Given the description of an element on the screen output the (x, y) to click on. 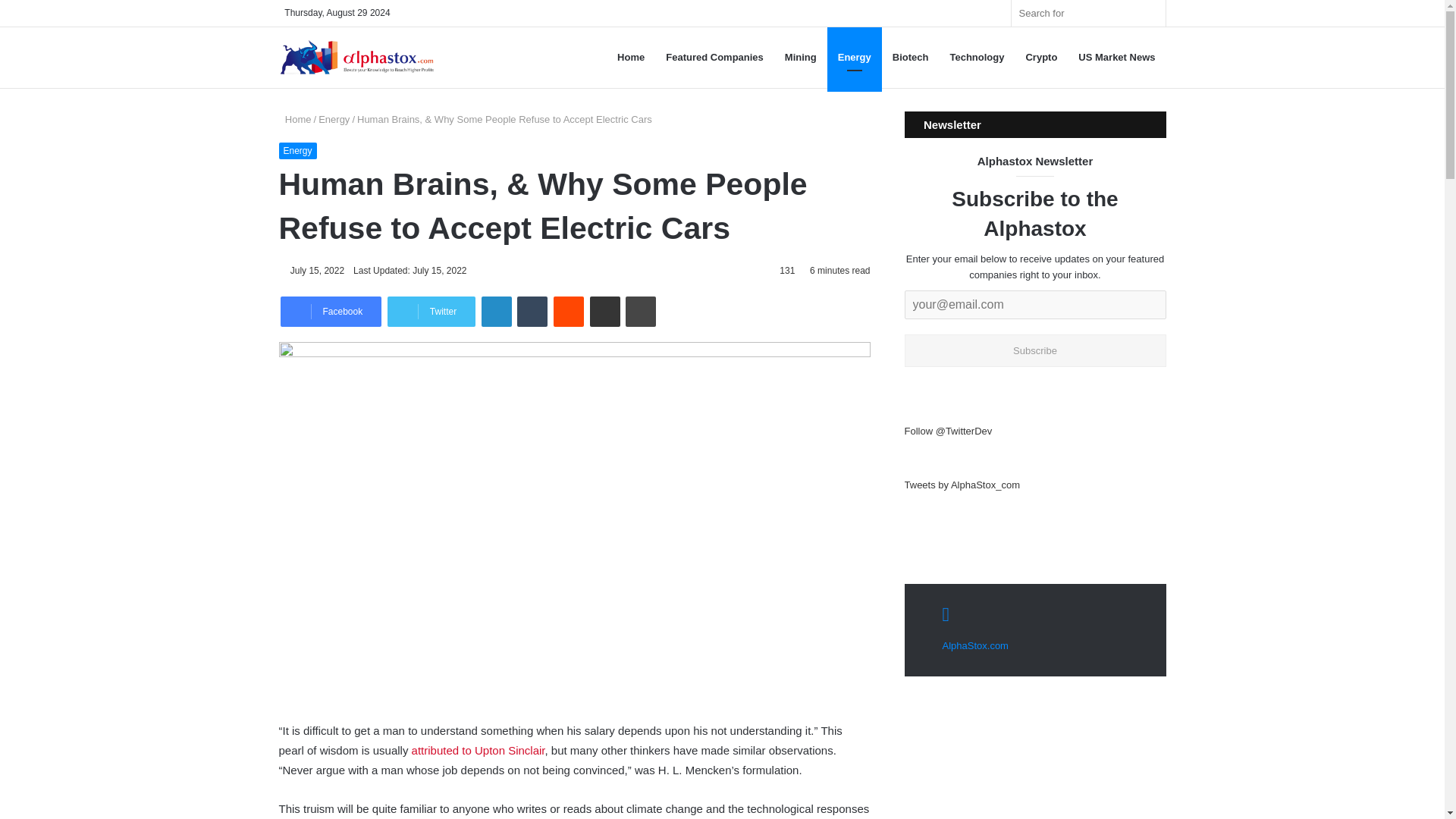
Energy (854, 57)
Reddit (568, 311)
Tumblr (531, 311)
Alphastox (356, 57)
Print (641, 311)
Tumblr (531, 311)
LinkedIn (496, 311)
attributed to Upton Sinclair (478, 749)
Twitter (431, 311)
Search for (1088, 13)
